Given the description of an element on the screen output the (x, y) to click on. 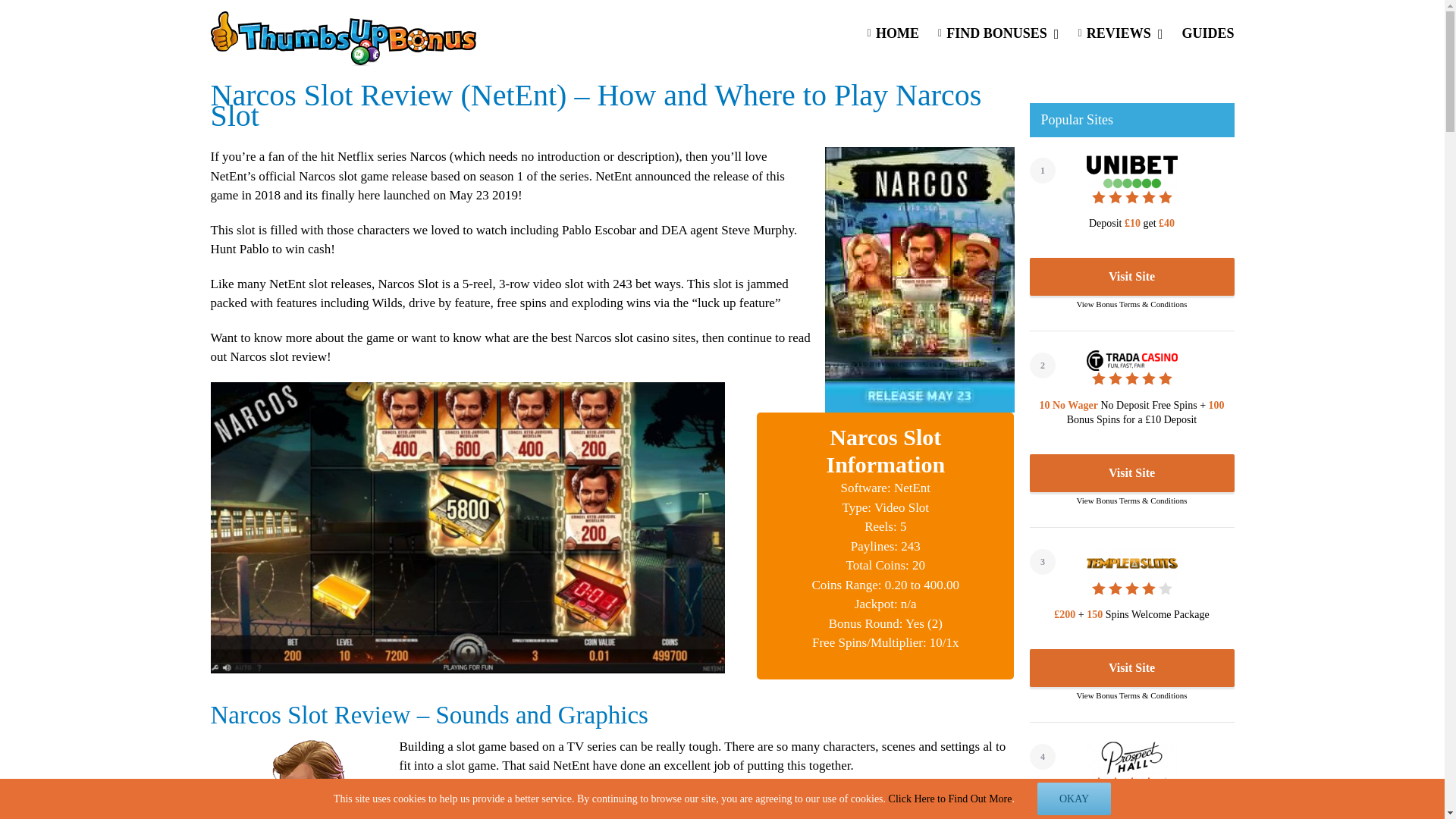
REVIEWS (1119, 31)
NetEnt (909, 815)
GUIDES (1206, 31)
Find Bonuses (998, 31)
HOME (892, 31)
Guides (1206, 31)
FIND BONUSES (998, 31)
Reviews (1119, 31)
